Given the description of an element on the screen output the (x, y) to click on. 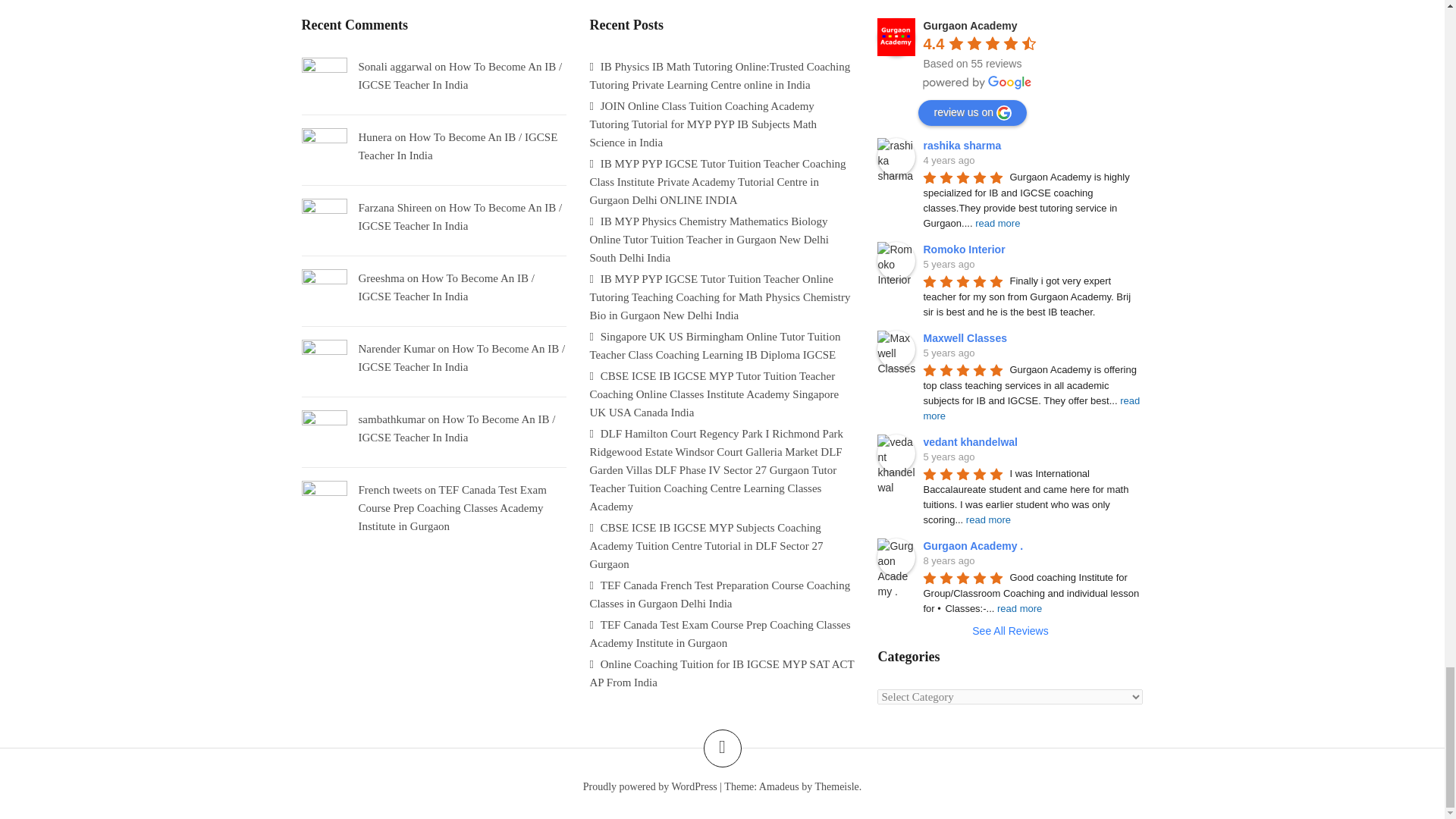
Gurgaon Academy (896, 37)
